Given the description of an element on the screen output the (x, y) to click on. 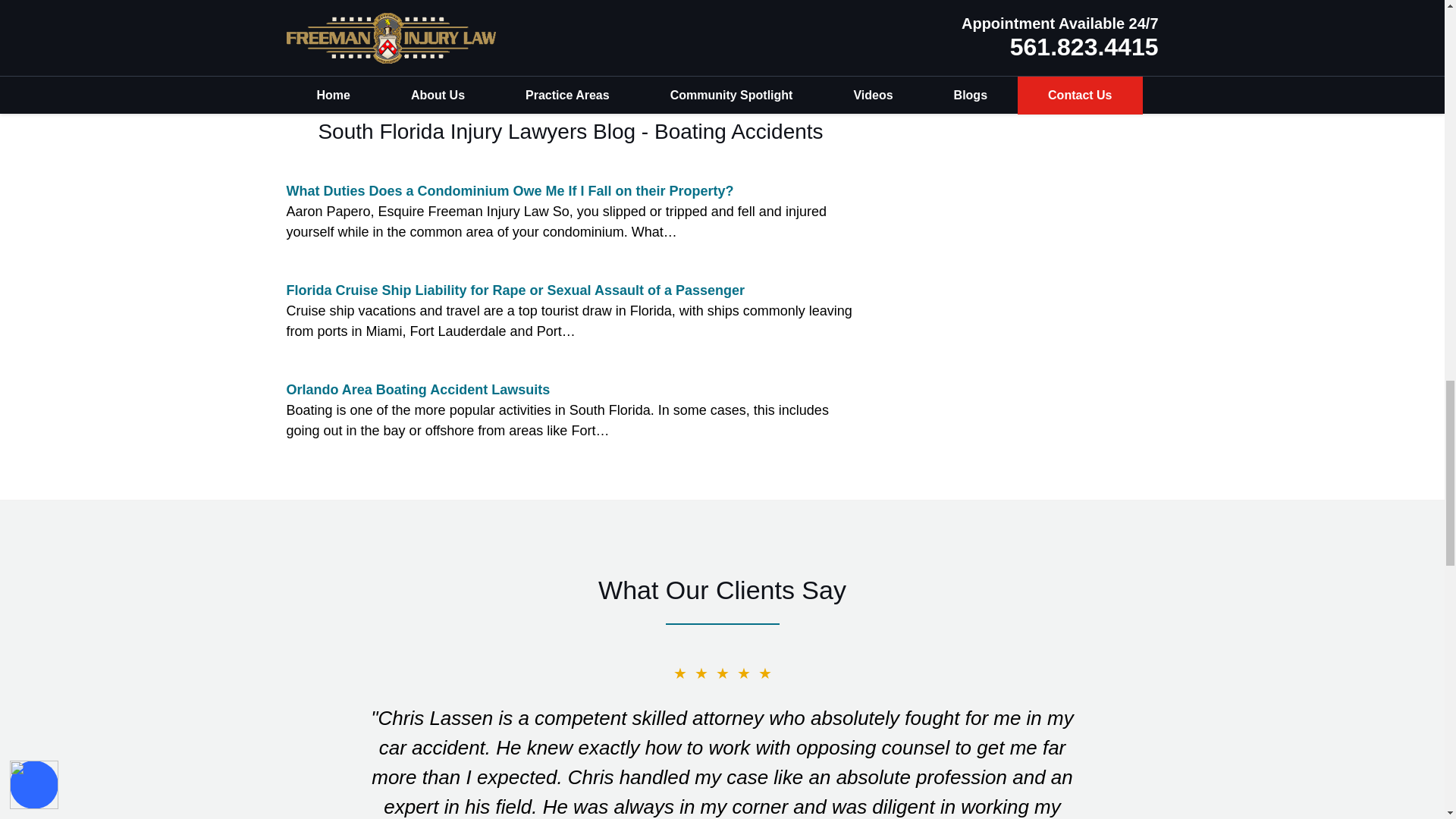
Orlando Area Boating Accident Lawsuits (418, 389)
South Florida Injury Lawyers Blog - Boating Accidents (569, 131)
